Given the description of an element on the screen output the (x, y) to click on. 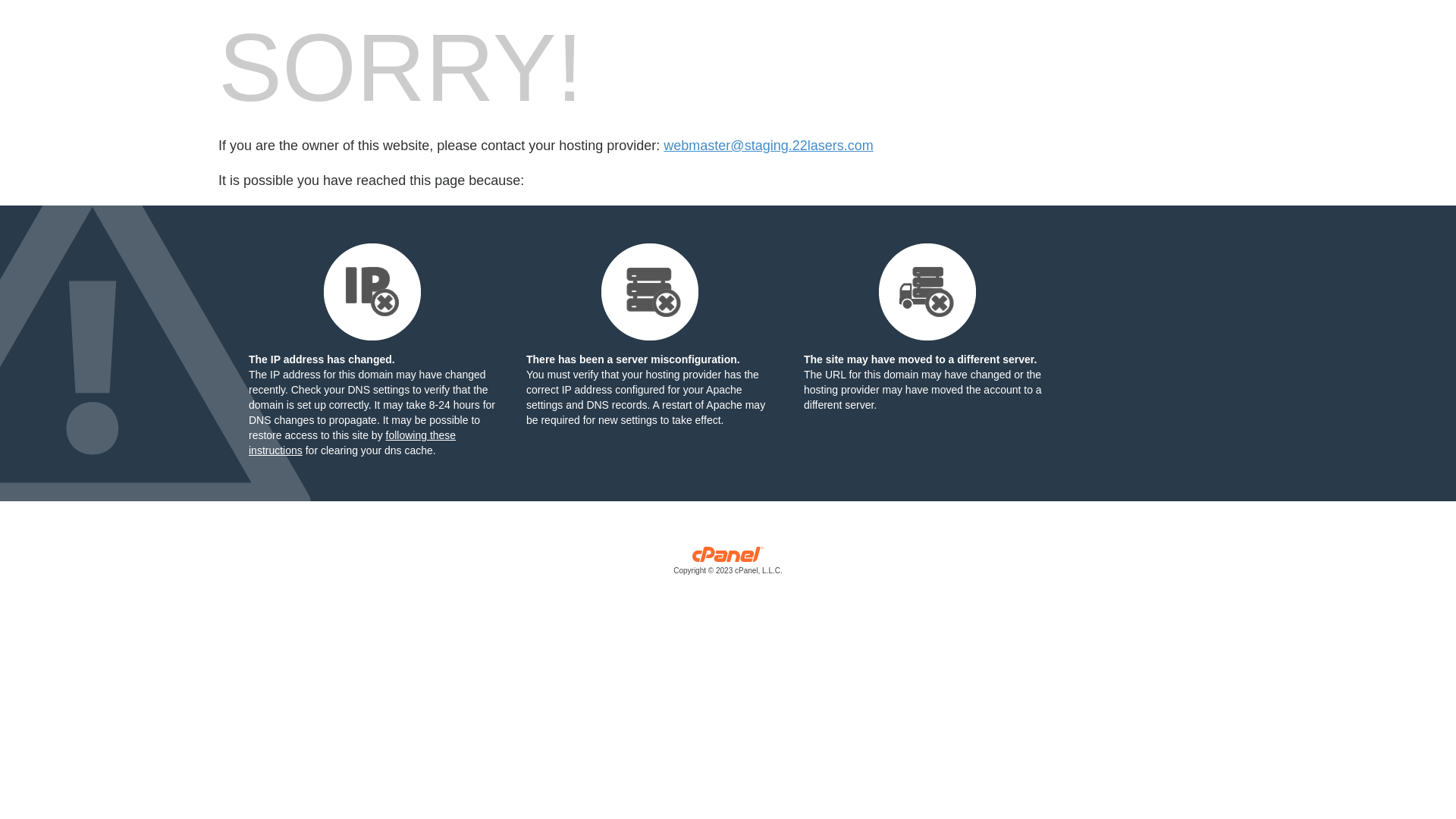
following these instructions Element type: text (351, 442)
webmaster@staging.22lasers.com Element type: text (767, 145)
